Given the description of an element on the screen output the (x, y) to click on. 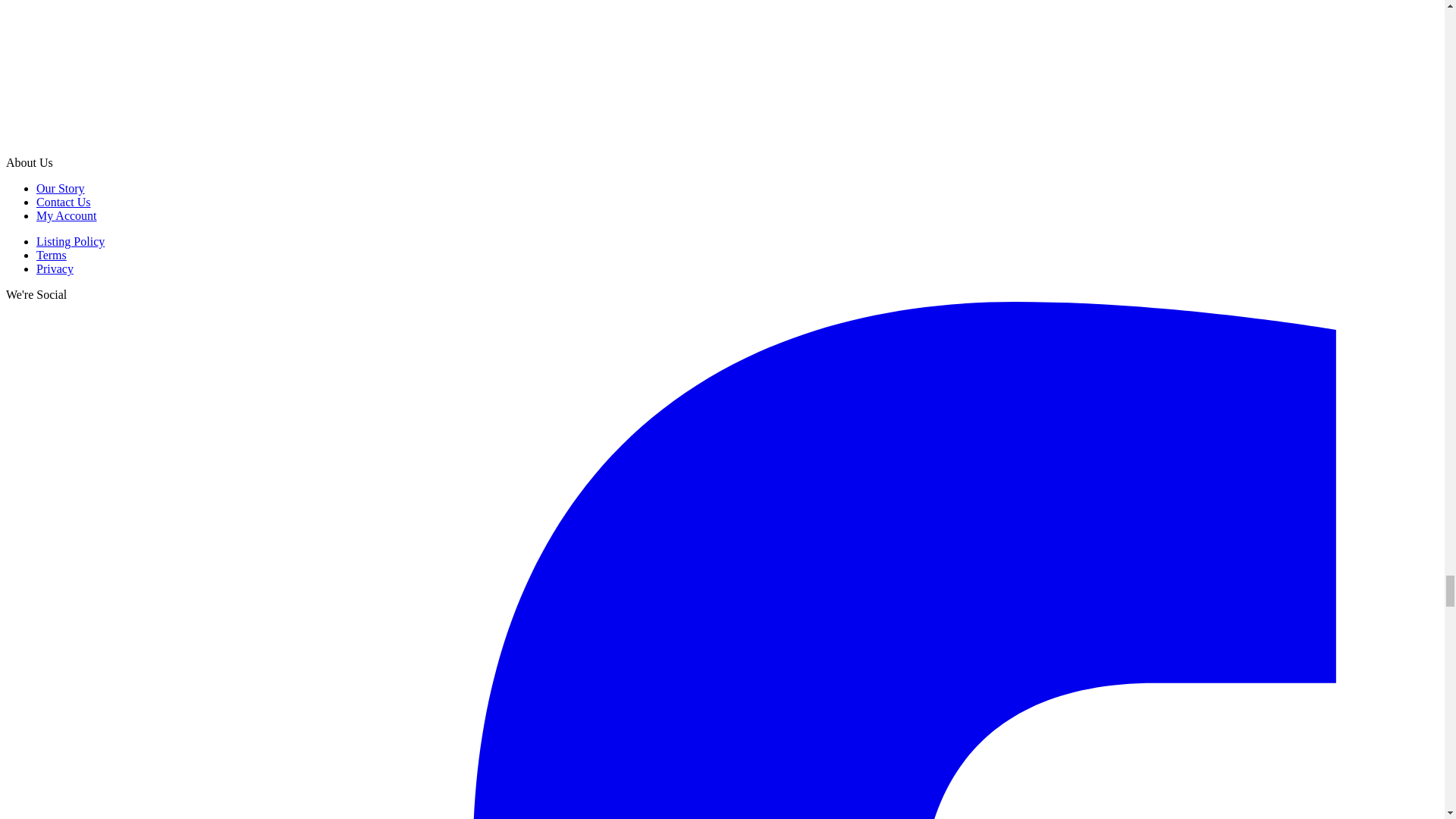
Contact Us (63, 201)
My Account (66, 215)
Our Story (60, 187)
Listing Policy (70, 241)
Terms (51, 254)
Privacy (55, 268)
